Given the description of an element on the screen output the (x, y) to click on. 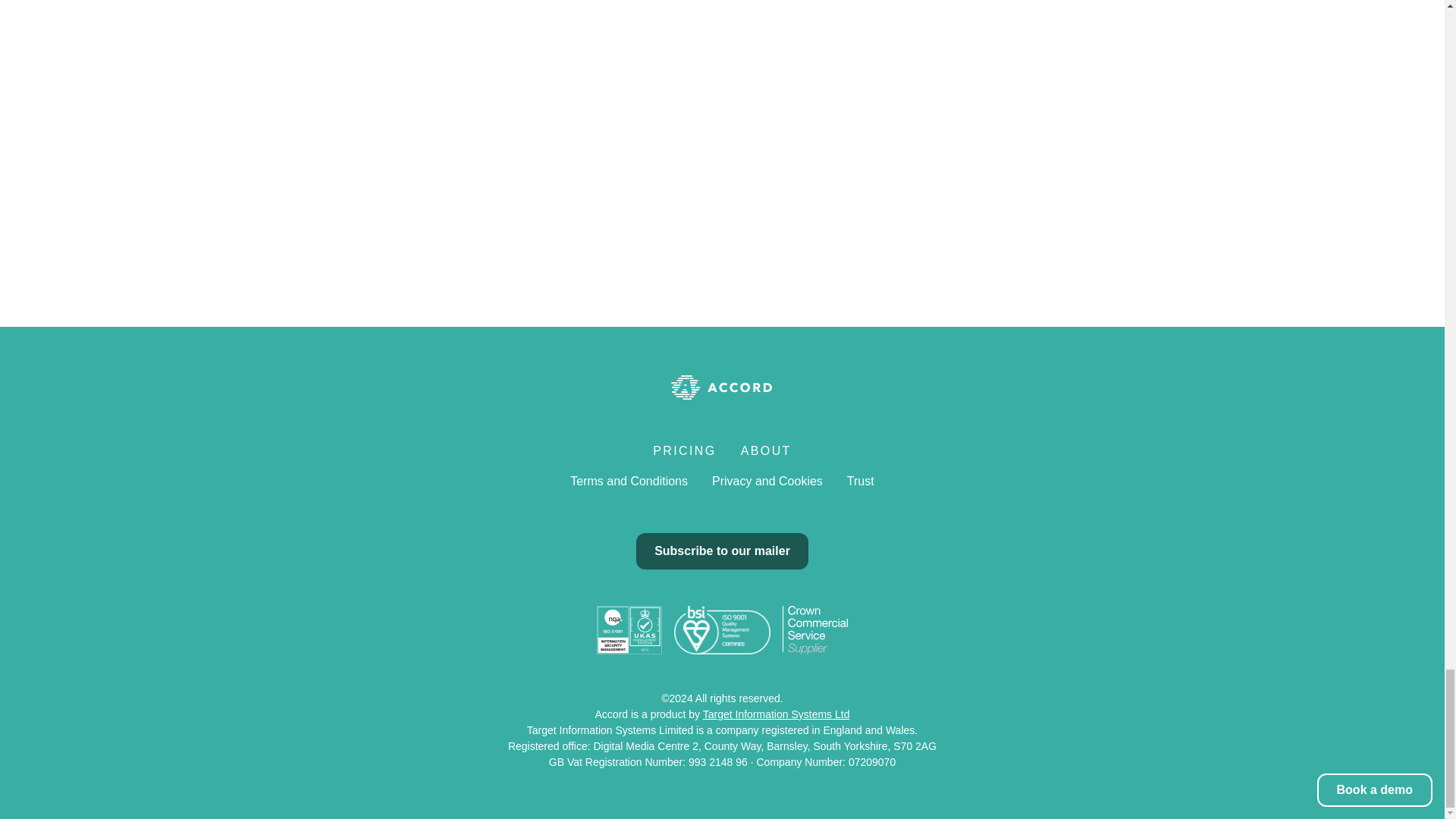
Trust (860, 481)
PRICING (684, 450)
Certificate number: FS 597609 (722, 630)
ABOUT (766, 450)
Privacy and Cookies (767, 481)
Homepage (721, 387)
ccs supplier (815, 630)
Target Information Systems Ltd (776, 714)
Certificate number: 126581 (629, 630)
Terms and Conditions (629, 481)
Subscribe to our mailer (722, 551)
